Given the description of an element on the screen output the (x, y) to click on. 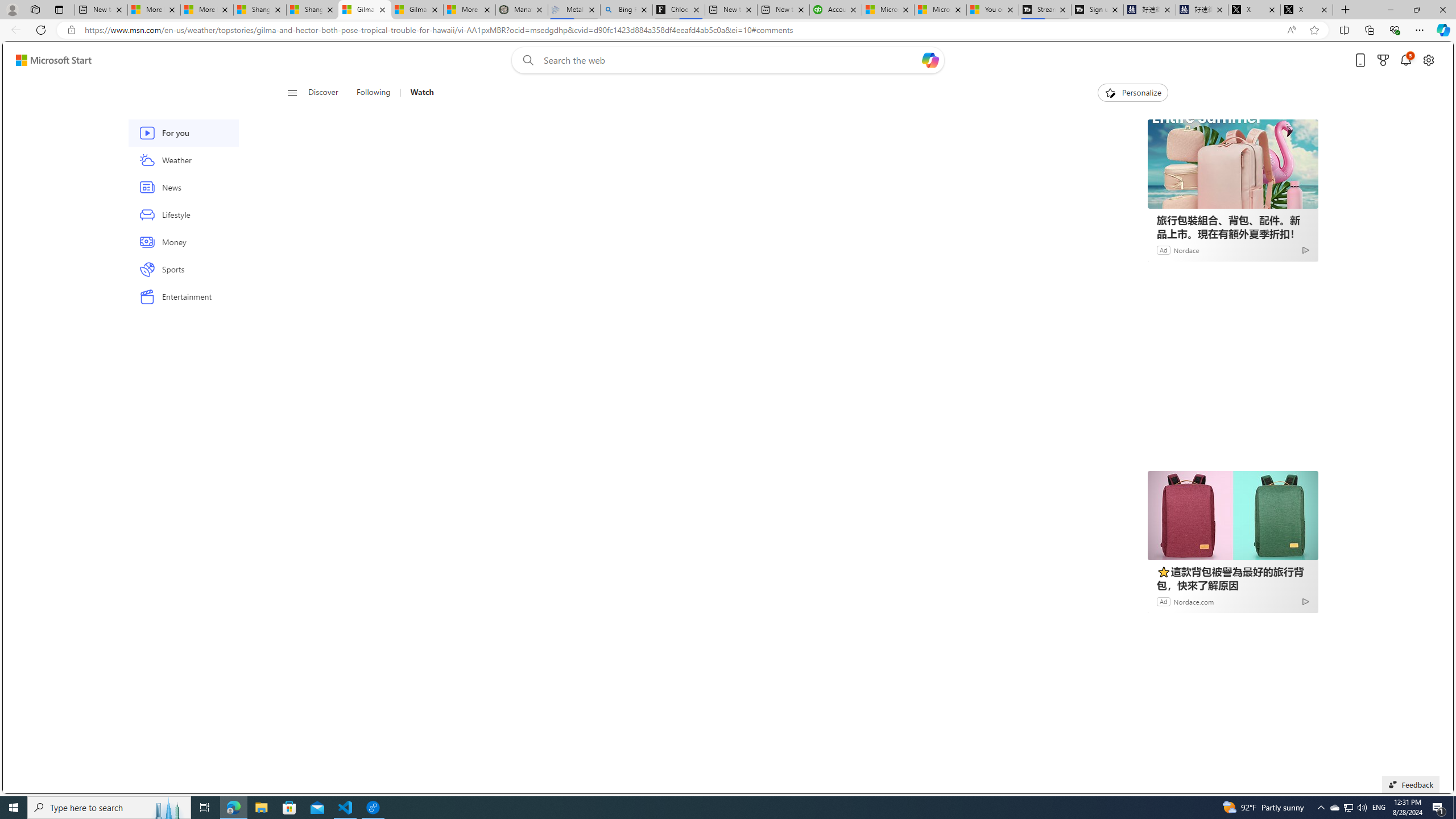
Open settings (1427, 60)
Accounting Software for Accountants, CPAs and Bookkeepers (835, 9)
Bing Real Estate - Home sales and rental listings (626, 9)
Gilma and Hector both pose tropical trouble for Hawaii (416, 9)
Nordace.com (1193, 601)
